Given the description of an element on the screen output the (x, y) to click on. 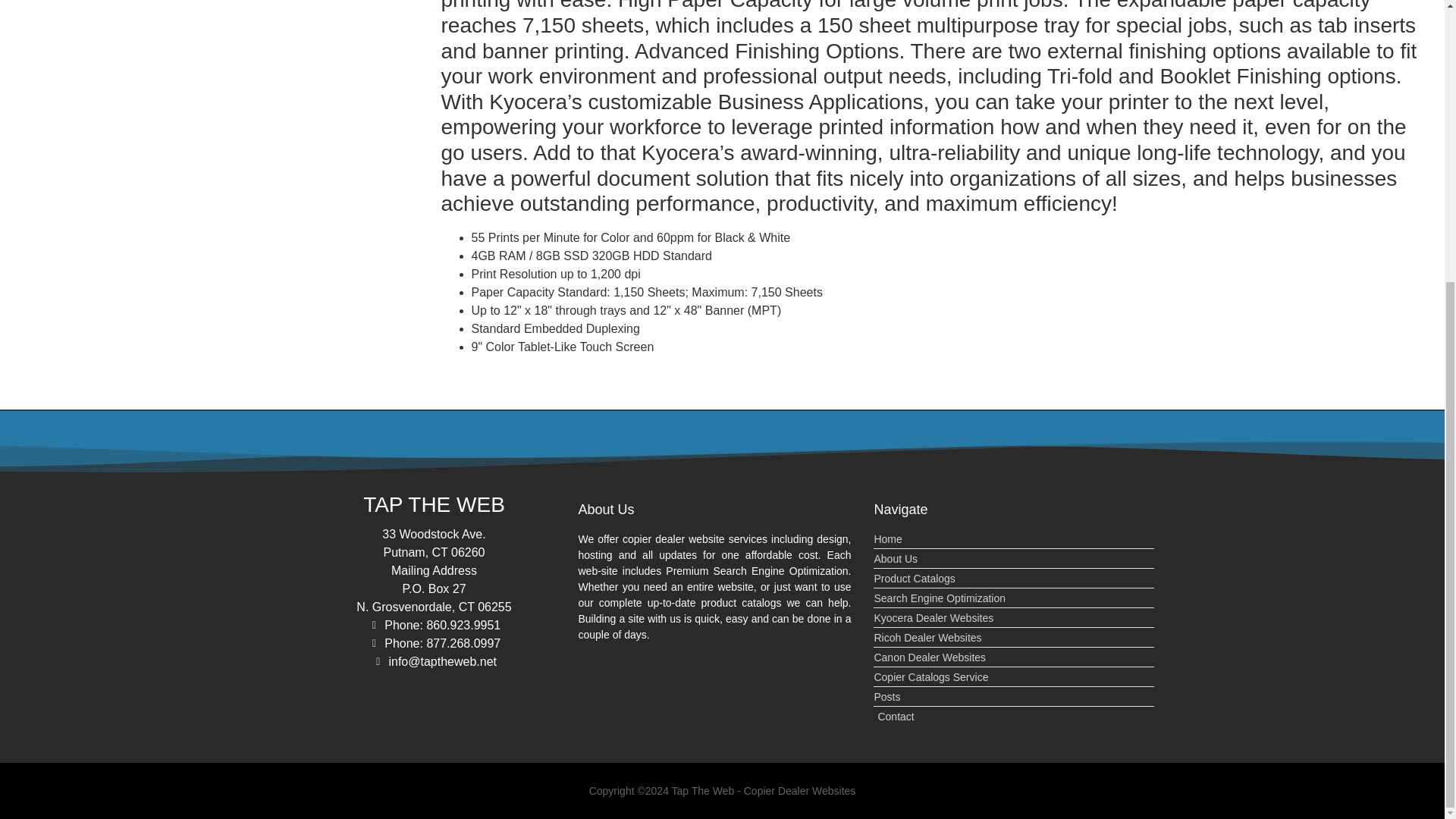
Canon Dealer Websites (1013, 657)
Contact (1013, 716)
About Us (1013, 559)
Kyocera Dealer Websites (1013, 618)
Posts (1013, 697)
Phone: 877.268.0997 (433, 643)
33 Woodstock Ave. (433, 534)
Mailing Address (433, 570)
Search Engine Optimization (1013, 598)
Product Catalogs (1013, 578)
P.O. Box 27 (433, 588)
Phone: 860.923.9951 (433, 625)
Copier Catalogs Service (1013, 677)
Ricoh Dealer Websites (1013, 637)
Home (1013, 539)
